Given the description of an element on the screen output the (x, y) to click on. 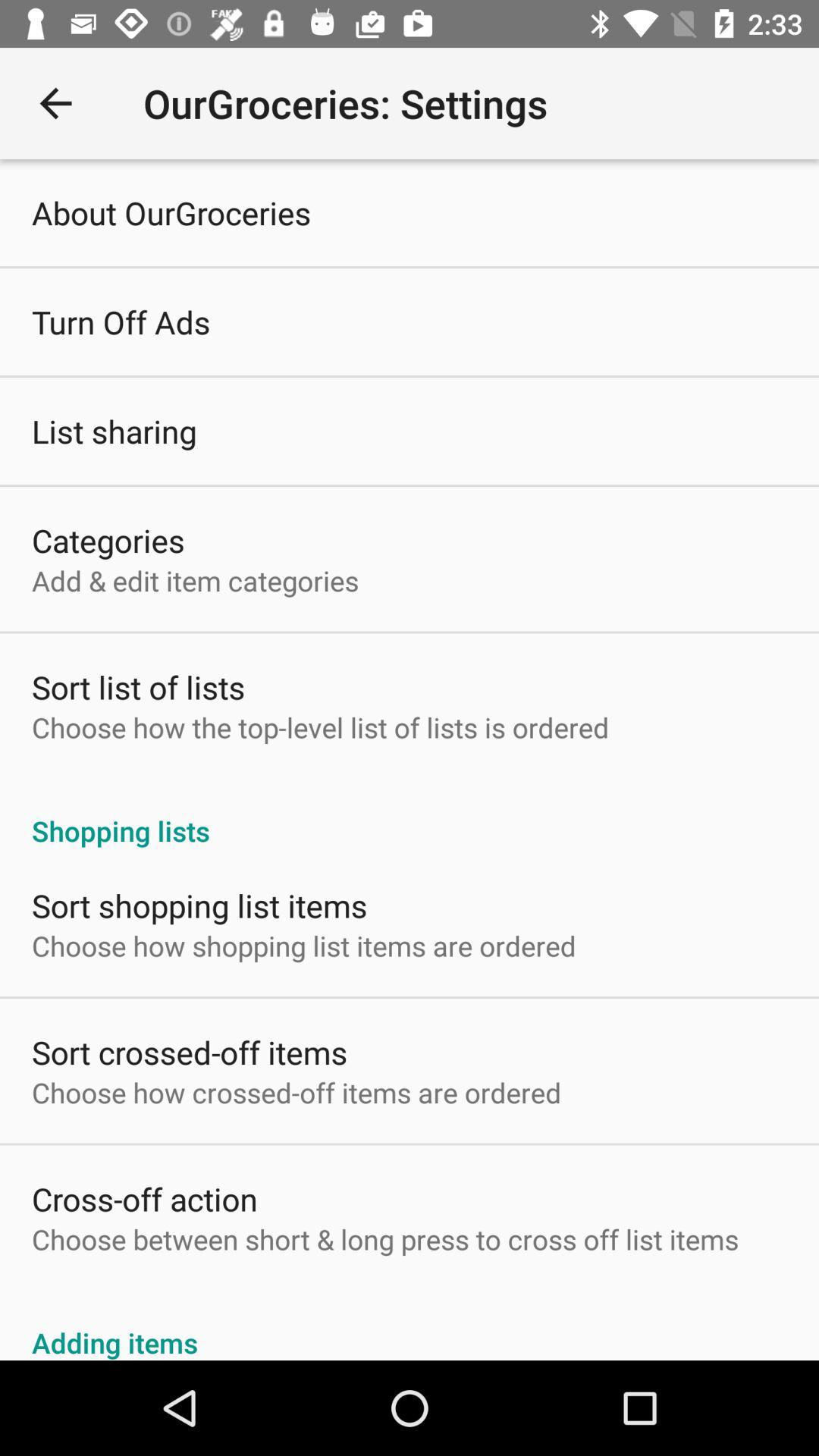
flip until add edit item icon (194, 580)
